Given the description of an element on the screen output the (x, y) to click on. 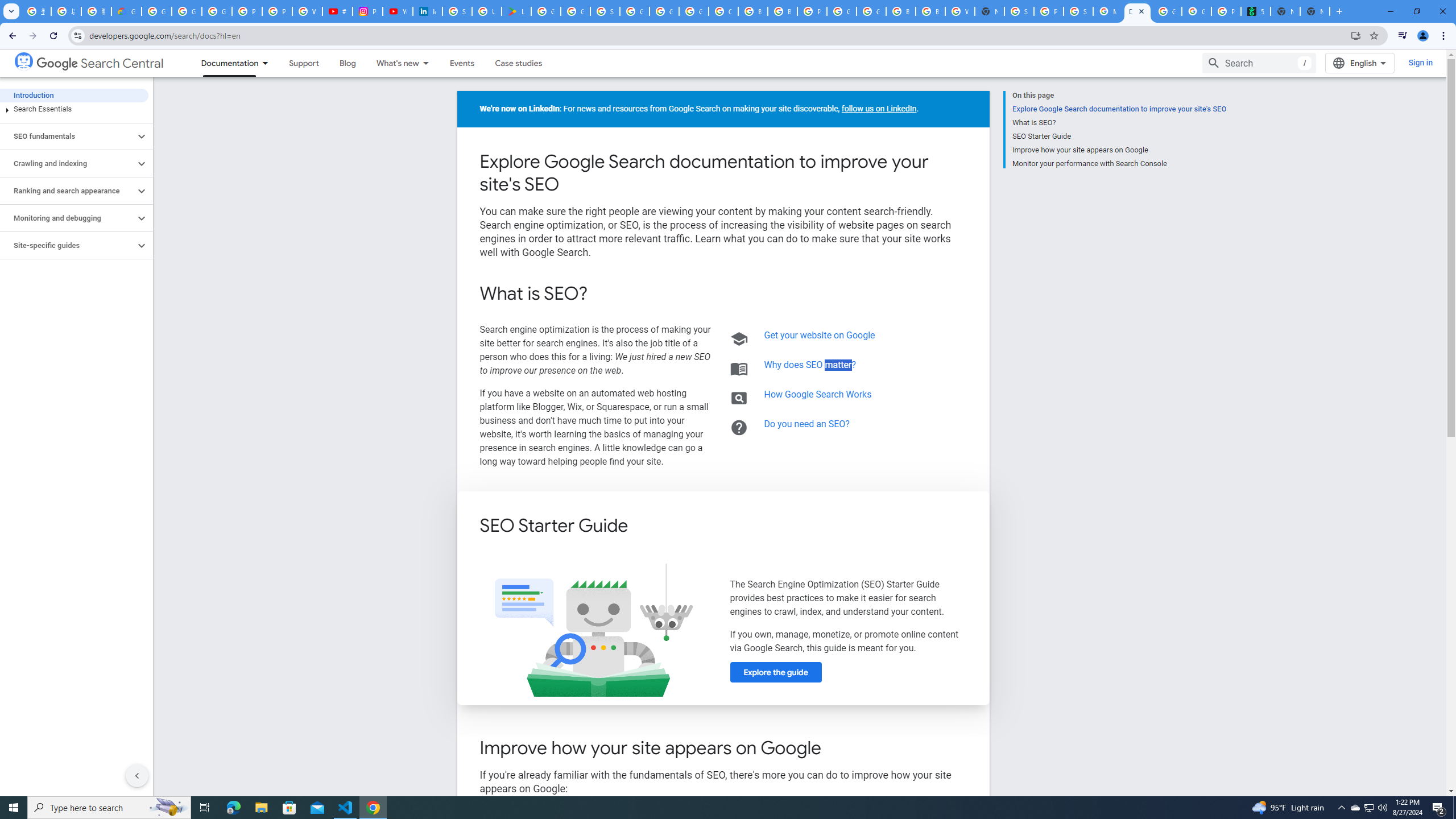
Google Cloud Platform (871, 11)
Search Essentials (74, 109)
Monitor your performance with Search Console (1118, 162)
English (1359, 63)
Browse Chrome as a guest - Computer - Google Chrome Help (900, 11)
Hide side navigation (136, 775)
follow us on LinkedIn (879, 108)
Dropdown menu for What's new (429, 62)
